Given the description of an element on the screen output the (x, y) to click on. 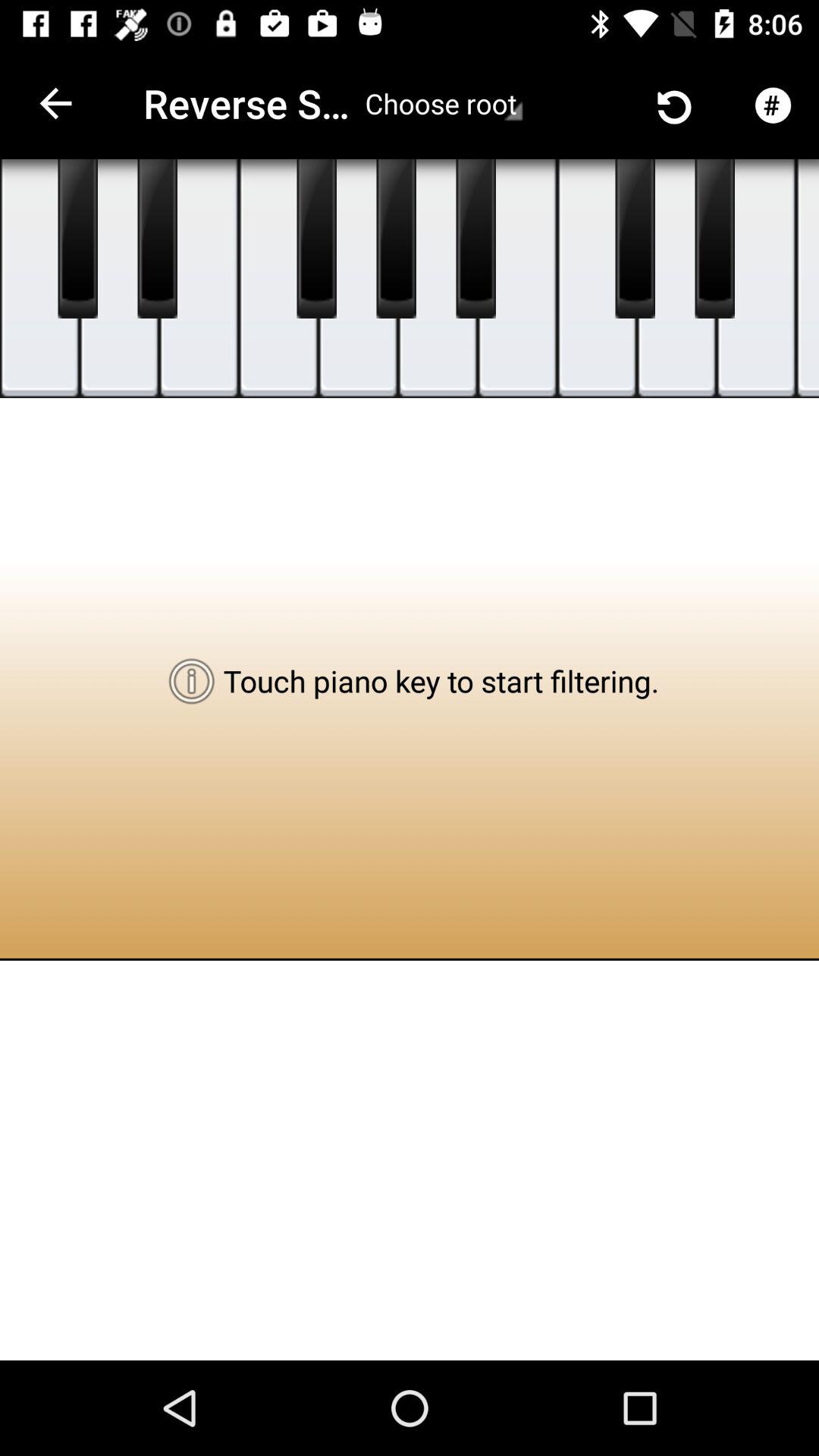
he can activate the simple voice command (714, 238)
